Given the description of an element on the screen output the (x, y) to click on. 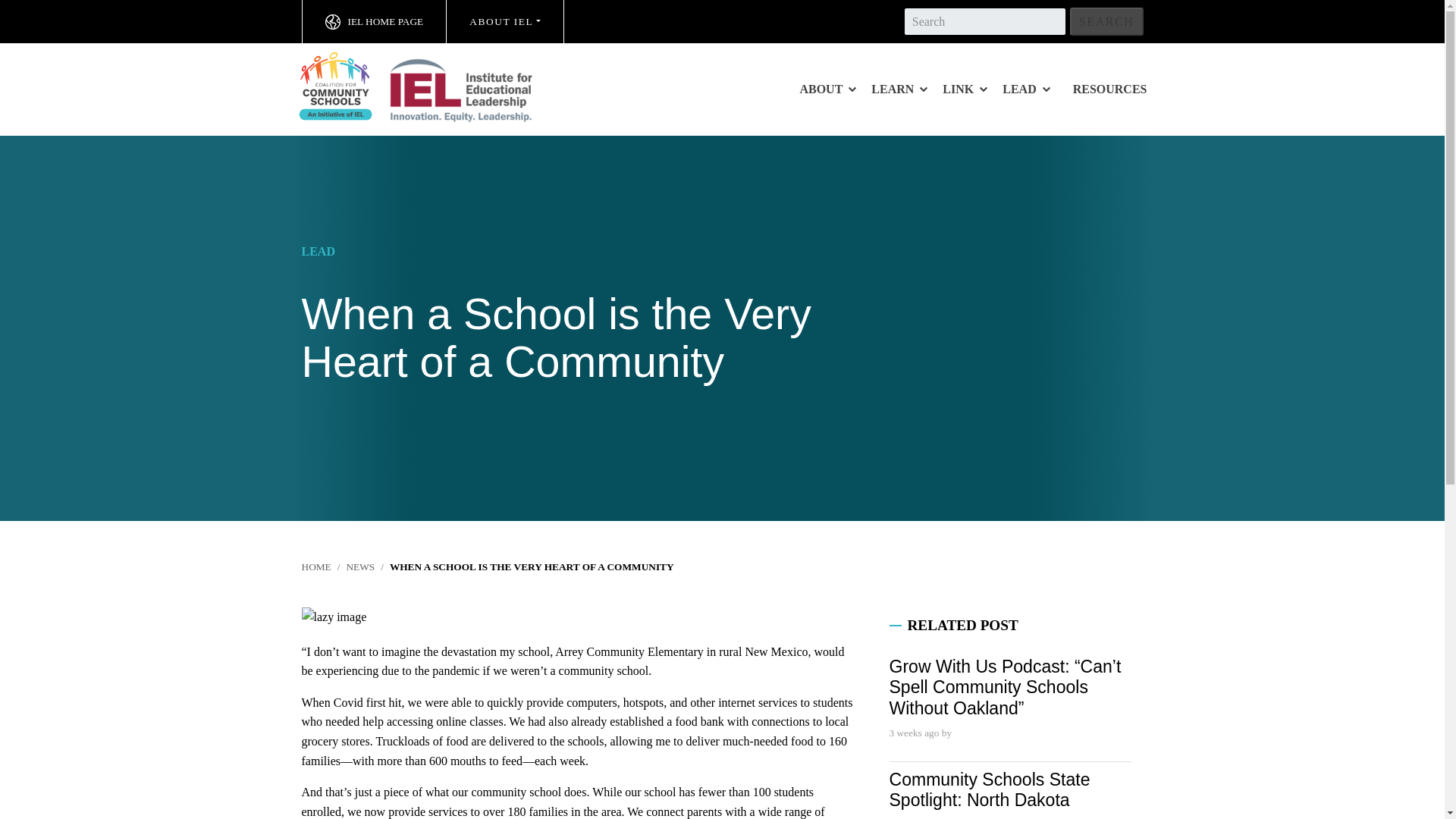
Community Schools (429, 86)
When a School is the Very Heart of a Community (532, 566)
LINK (964, 88)
ABOUT (827, 88)
LEARN (898, 88)
News (360, 566)
ABOUT IEL (505, 21)
LEAD (1025, 88)
IEL HOME PAGE (373, 21)
SEARCH (1106, 21)
